Given the description of an element on the screen output the (x, y) to click on. 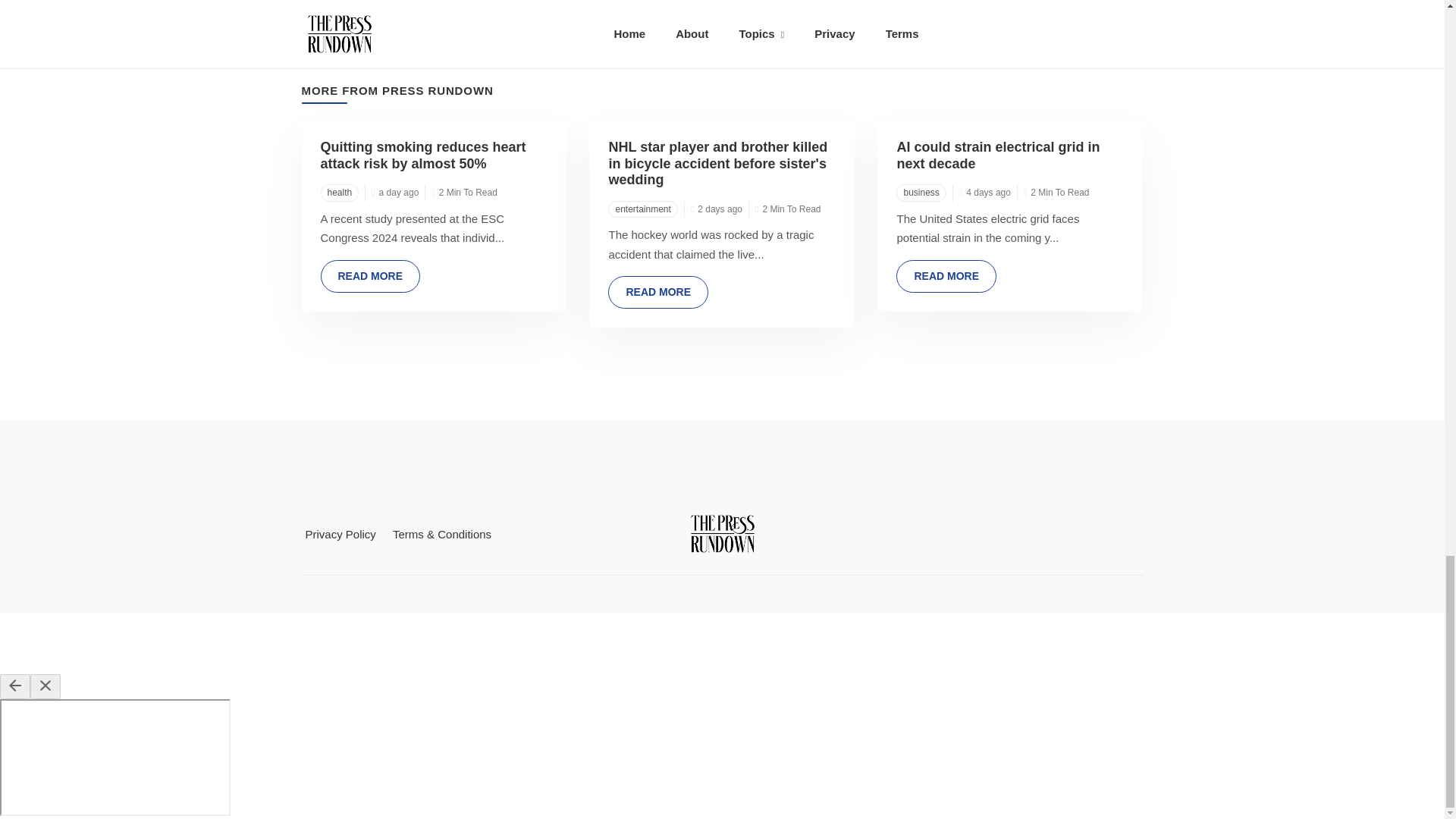
AI could strain electrical grid in next decade (997, 155)
READ MORE (657, 292)
READ MORE (370, 276)
READ MORE (945, 276)
Privacy Policy (340, 533)
entertainment (642, 208)
Advertisement (721, 22)
Advertisement (721, 643)
business (920, 192)
